Given the description of an element on the screen output the (x, y) to click on. 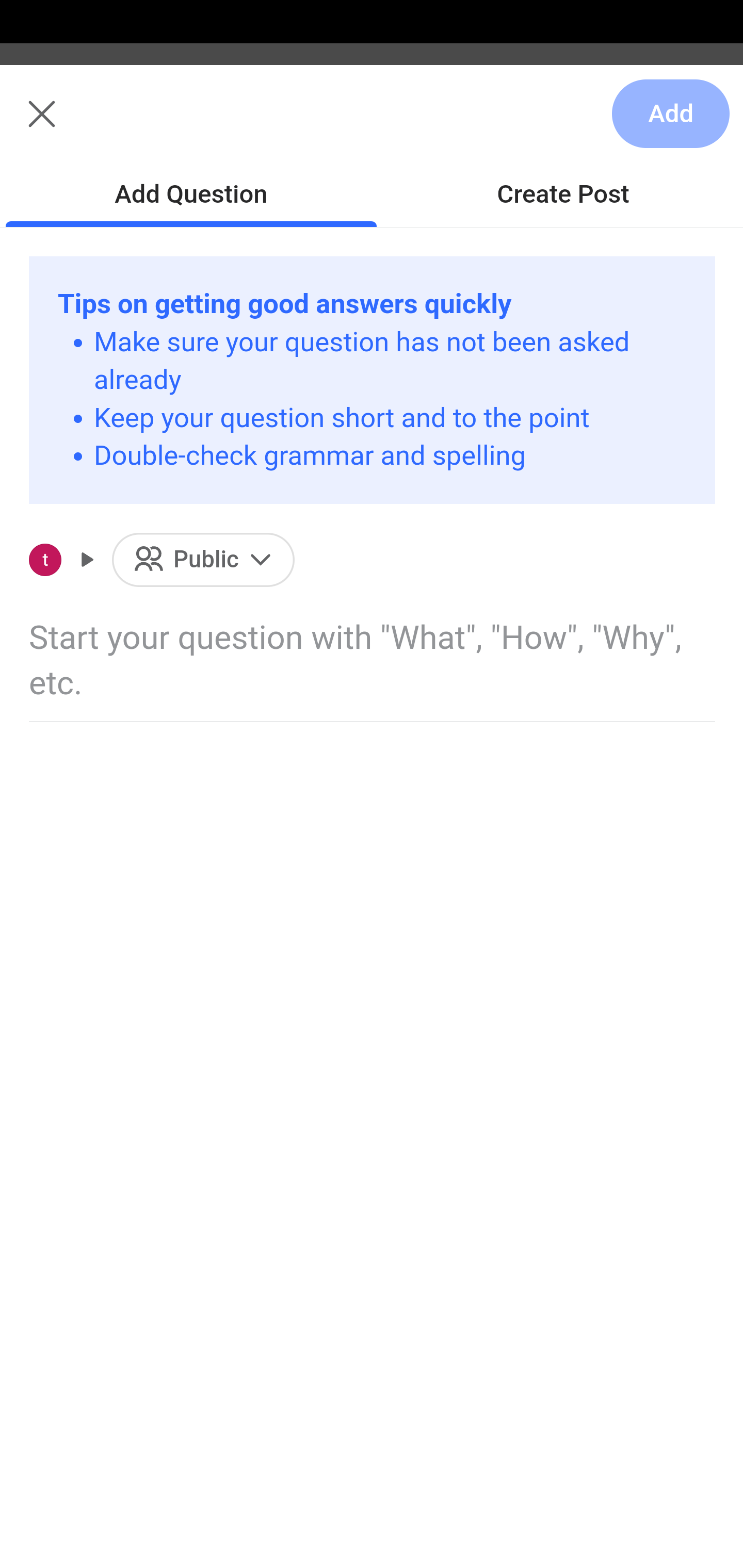
Me Home Search Add (371, 125)
Me (64, 125)
